Given the description of an element on the screen output the (x, y) to click on. 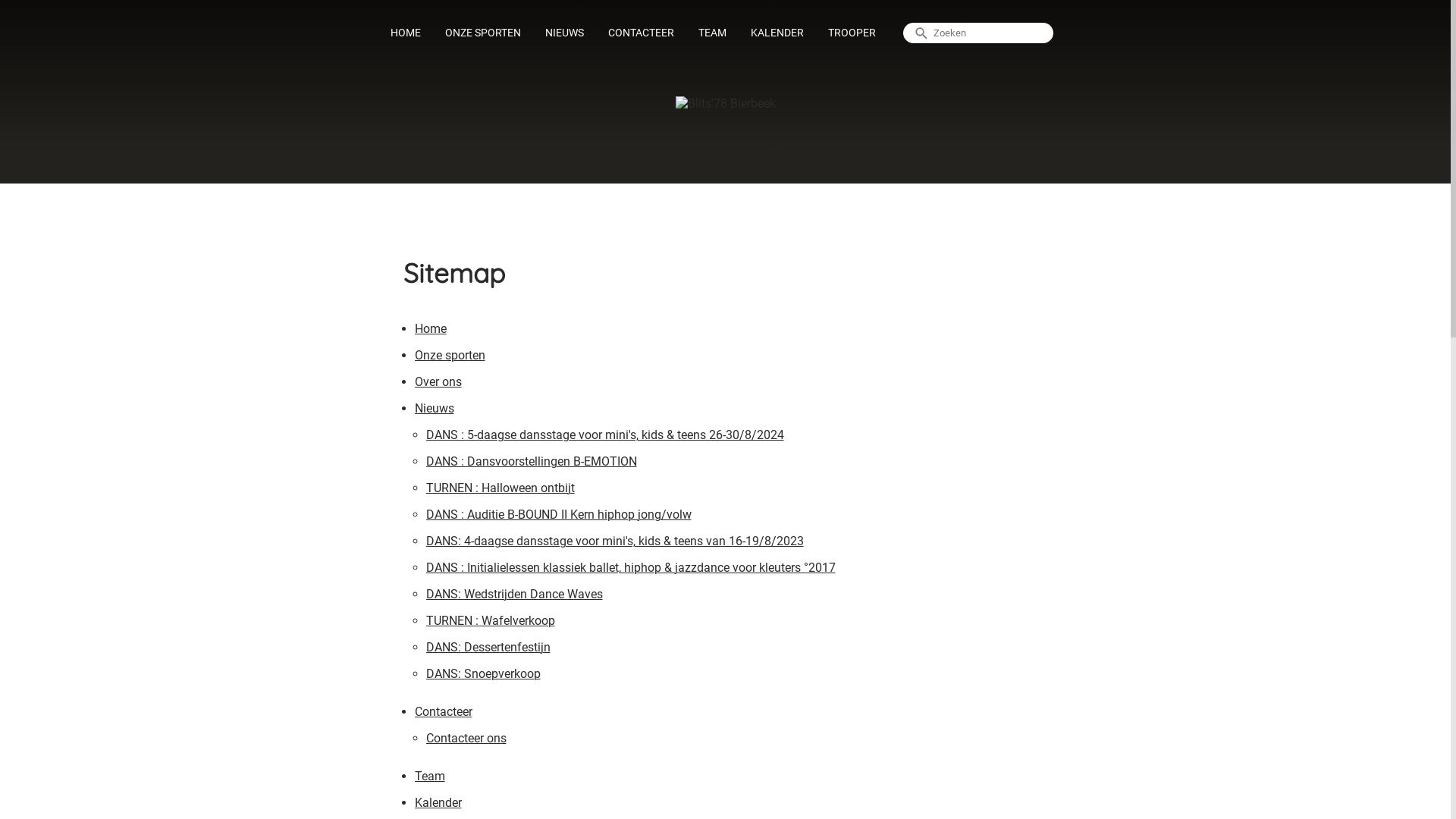
TURNEN : Wafelverkoop Element type: text (490, 622)
HOME Element type: text (405, 32)
Team Element type: text (429, 778)
DANS : Auditie B-BOUND II Kern hiphop jong/volw Element type: text (558, 516)
Contacteer Element type: text (442, 713)
TEAM Element type: text (712, 32)
Blits'78 Bierbeek Element type: hover (724, 103)
Nieuws Element type: text (433, 410)
DANS : Dansvoorstellingen B-EMOTION Element type: text (531, 463)
TROOPER Element type: text (851, 32)
Contacteer ons Element type: text (466, 740)
Kalender Element type: text (437, 804)
TURNEN : Halloween ontbijt Element type: text (500, 489)
DANS: Snoepverkoop Element type: text (483, 675)
NIEUWS Element type: text (564, 32)
CONTACTEER Element type: text (641, 32)
DANS: Wedstrijden Dance Waves Element type: text (514, 596)
Onze sporten Element type: text (449, 357)
Home Element type: text (429, 330)
Over ons Element type: text (437, 383)
DANS: Dessertenfestijn Element type: text (488, 649)
